Given the description of an element on the screen output the (x, y) to click on. 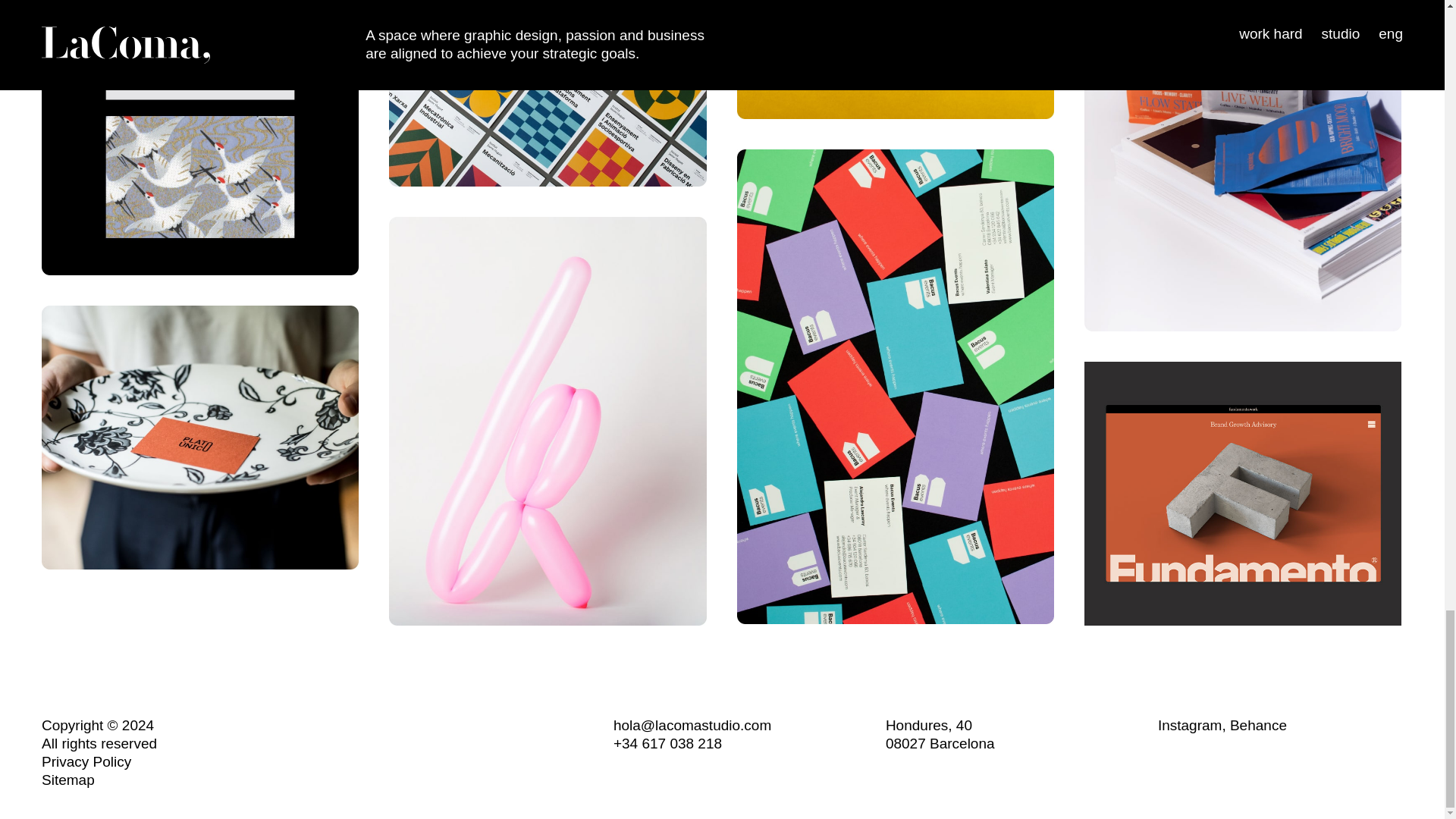
Instagram (939, 734)
Privacy Policy (1189, 725)
Sitemap (86, 761)
Behance (68, 779)
